Given the description of an element on the screen output the (x, y) to click on. 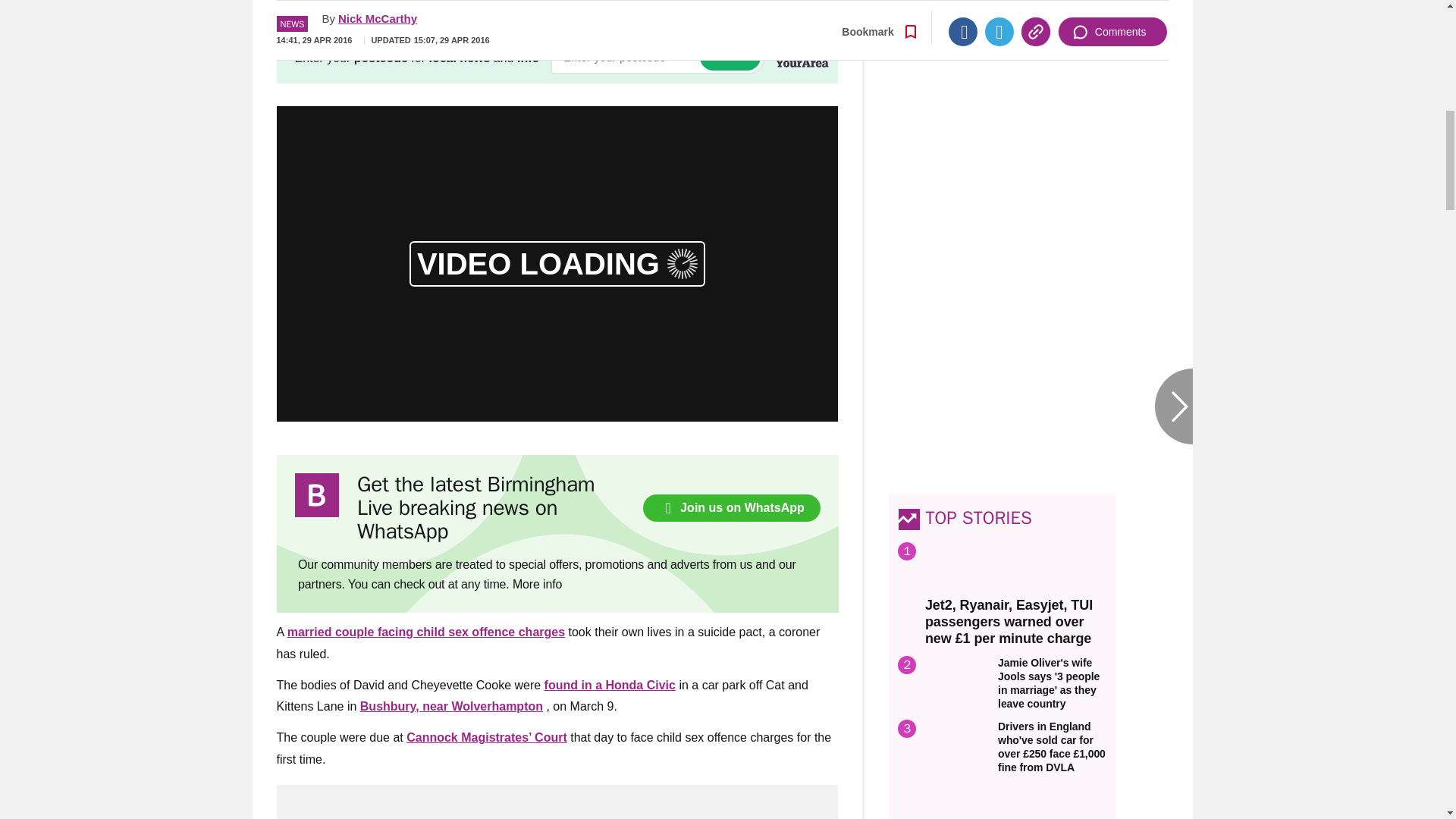
Go (730, 57)
